Given the description of an element on the screen output the (x, y) to click on. 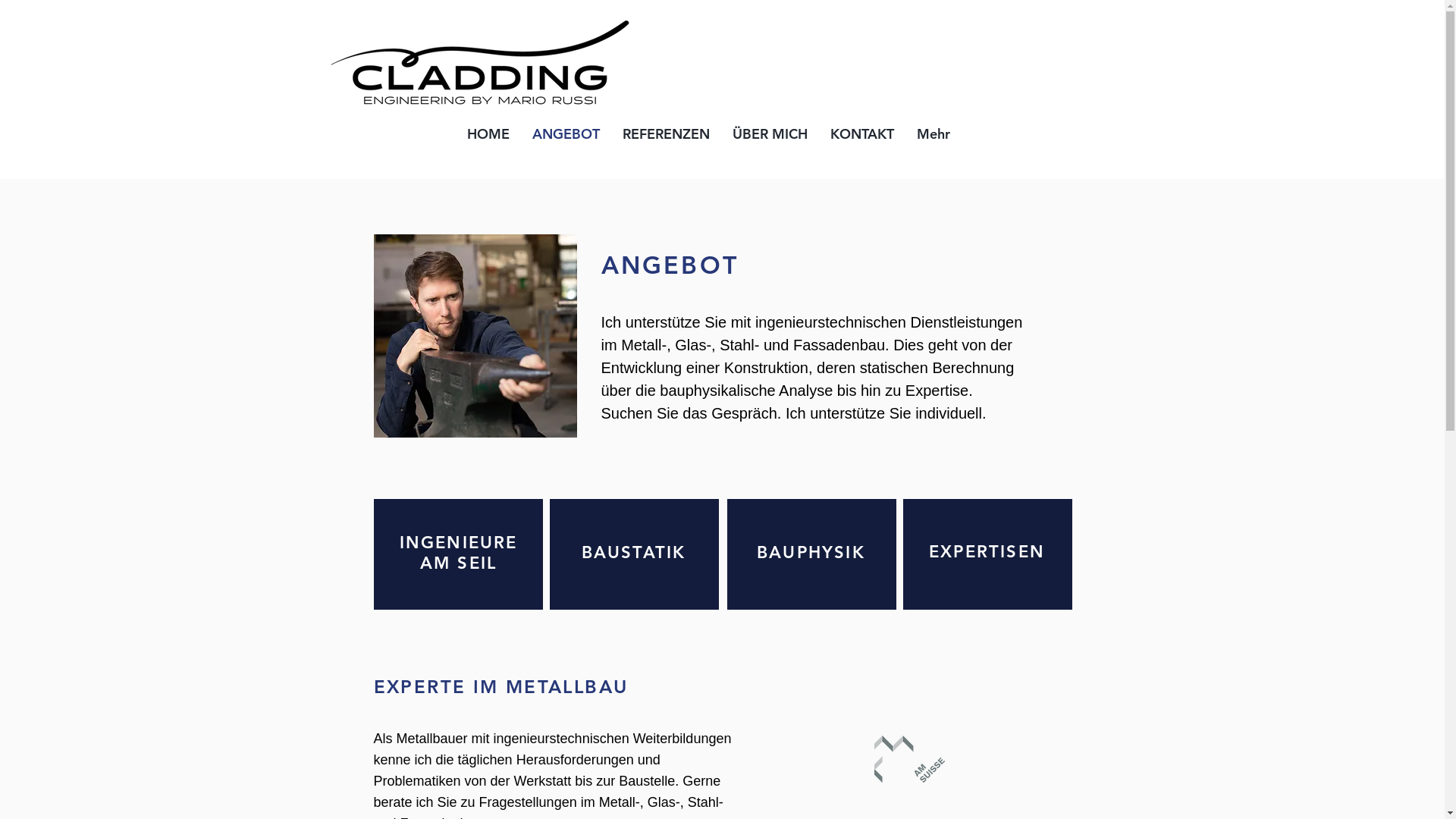
BAUSTATIK Element type: text (633, 552)
INGENIEURE Element type: text (457, 542)
ANGEBOT Element type: text (565, 139)
EXPERTISEN Element type: text (986, 551)
BAUPHYSIK Element type: text (810, 552)
KONTAKT Element type: text (862, 139)
AM SEIL Element type: text (458, 562)
HOME Element type: text (487, 139)
REFERENZEN Element type: text (666, 139)
